Given the description of an element on the screen output the (x, y) to click on. 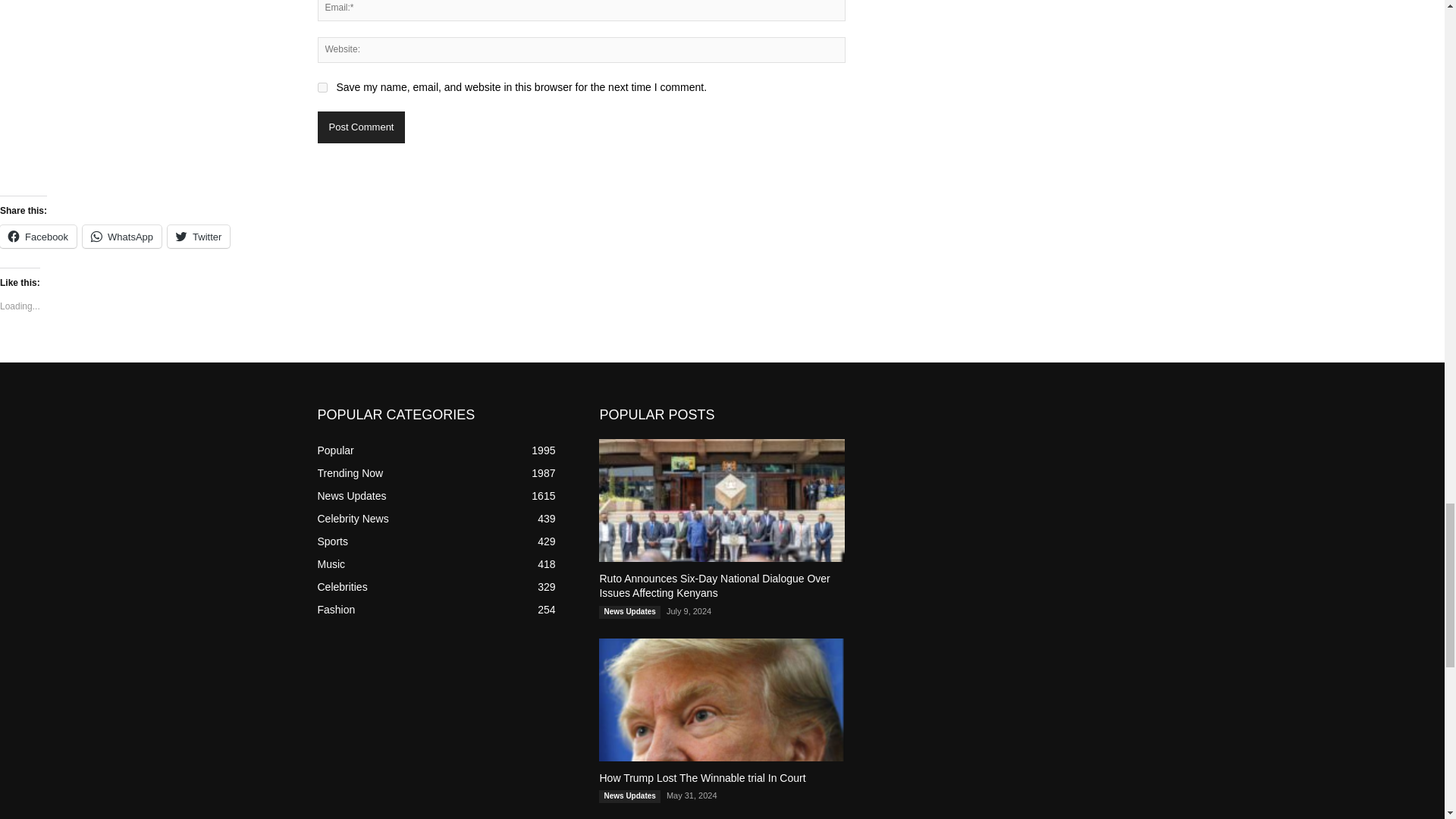
yes (321, 87)
Post Comment (360, 127)
